Given the description of an element on the screen output the (x, y) to click on. 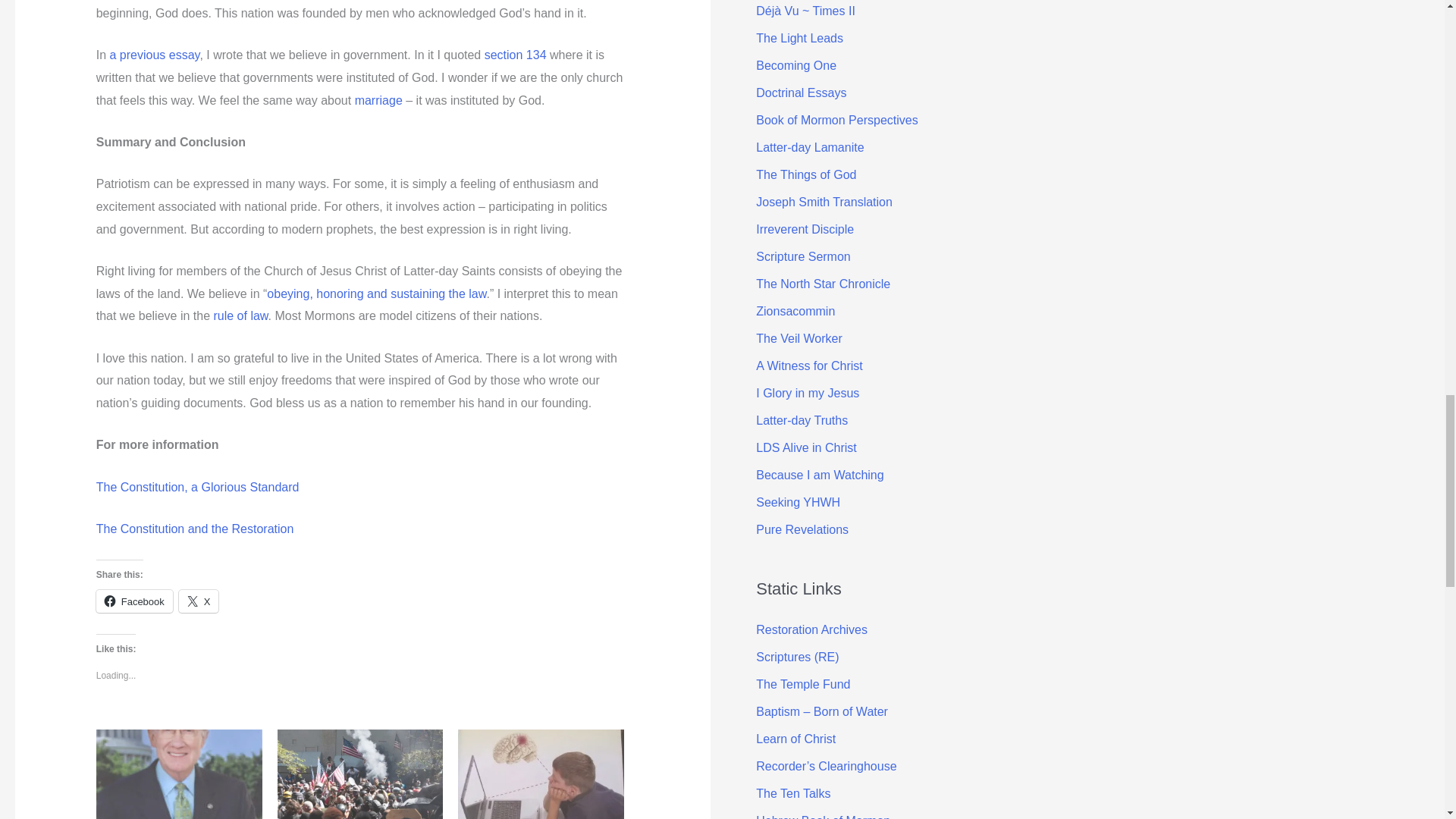
Can we legislate morality? (541, 774)
My Thoughts on the End of the World (361, 774)
Click to share on X (199, 600)
Can a Liberal Democrat be a good Mormon? (179, 774)
Click to share on Facebook (134, 600)
